Given the description of an element on the screen output the (x, y) to click on. 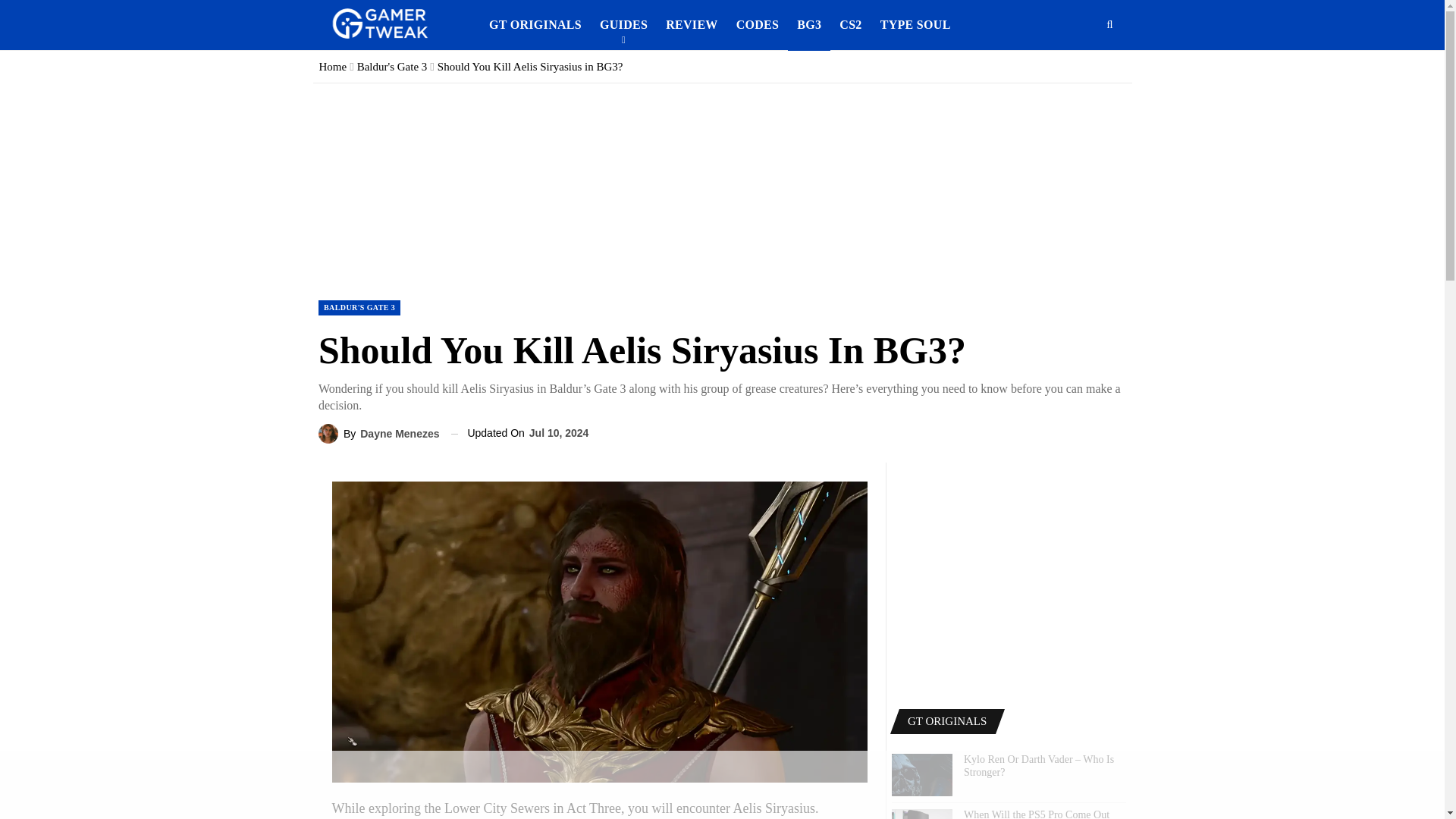
Advertisement (1008, 575)
Baldur's Gate 3 (392, 66)
GUIDES (623, 24)
BALDUR'S GATE 3 (359, 307)
REVIEW (691, 24)
By Dayne Menezes (378, 433)
TYPE SOUL (914, 24)
CODES (757, 24)
GT ORIGINALS (535, 24)
Home (332, 66)
Browse Author Articles (378, 433)
